Given the description of an element on the screen output the (x, y) to click on. 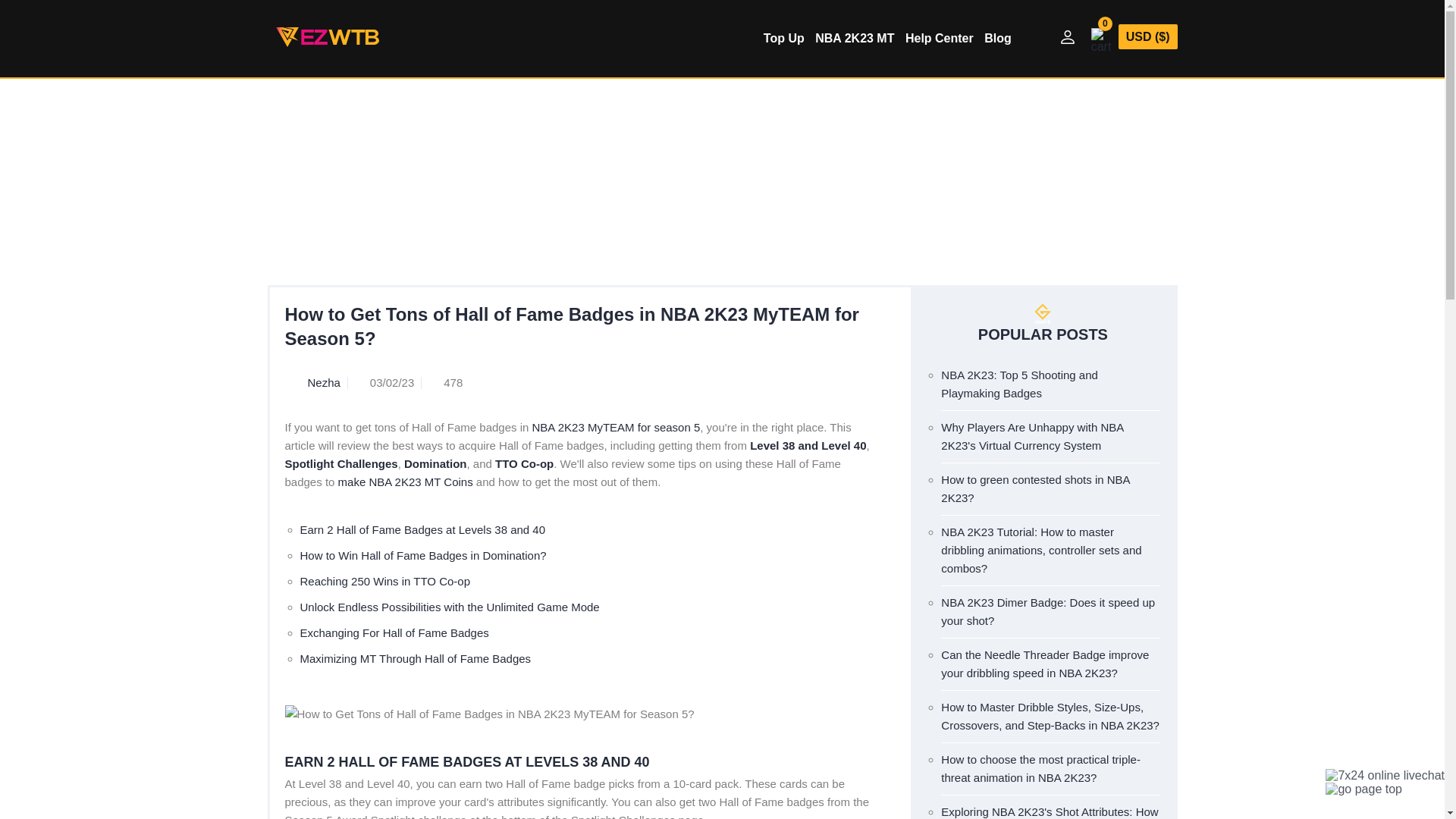
home (450, 178)
Help Center (505, 178)
How to Win Hall of Fame Badges in Domination? (423, 554)
Top Up (787, 38)
How to green contested shots in NBA 2K23? (1034, 488)
NBA 2K23 (572, 178)
